Given the description of an element on the screen output the (x, y) to click on. 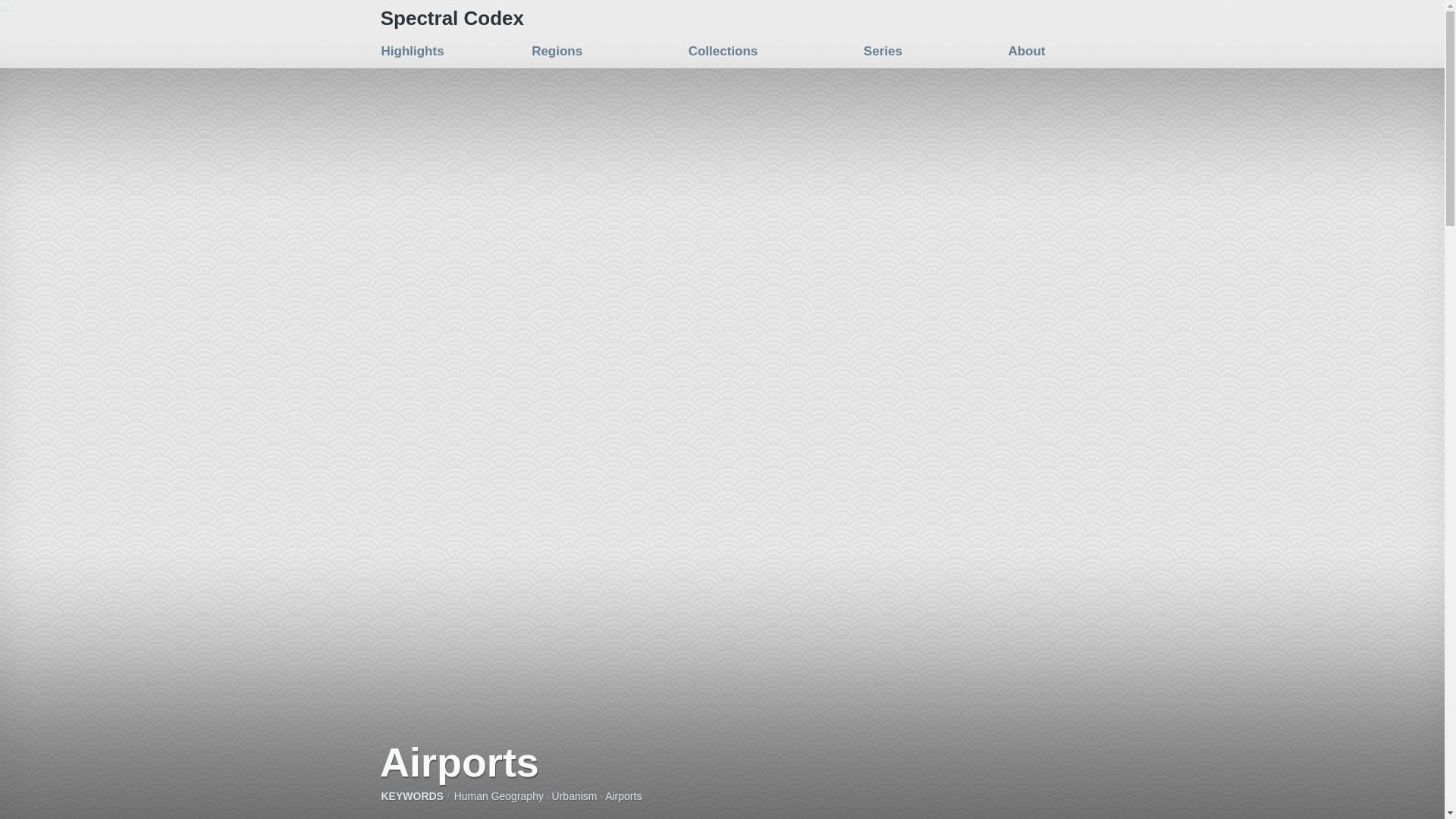
Series (882, 50)
Highlights (411, 50)
Spectral Codex (452, 17)
Collections (723, 50)
Regions (556, 50)
